Given the description of an element on the screen output the (x, y) to click on. 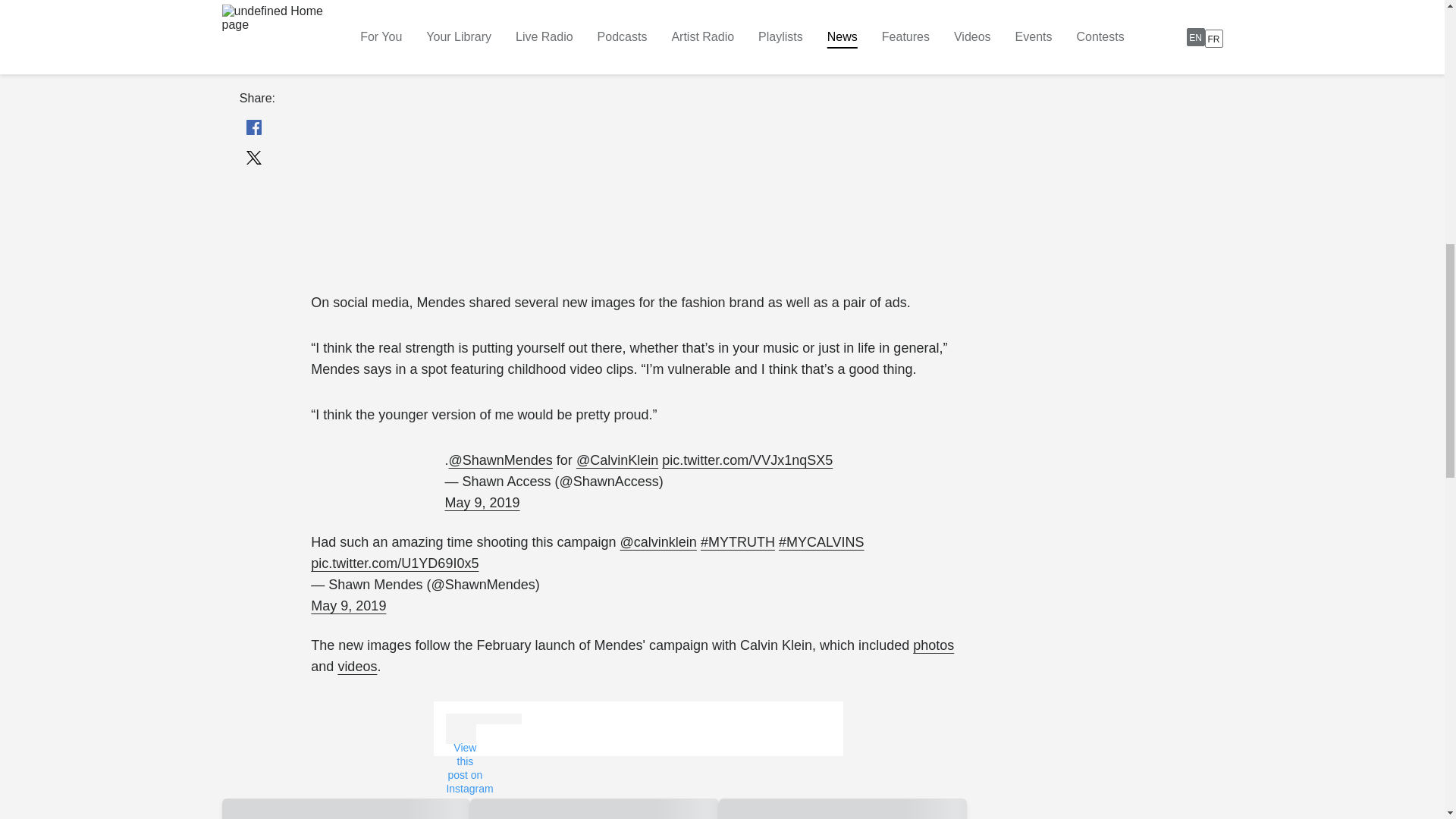
May 9, 2019 (348, 605)
May 9, 2019 (481, 502)
View this post on Instagram (464, 764)
photos (932, 645)
videos (357, 666)
